Given the description of an element on the screen output the (x, y) to click on. 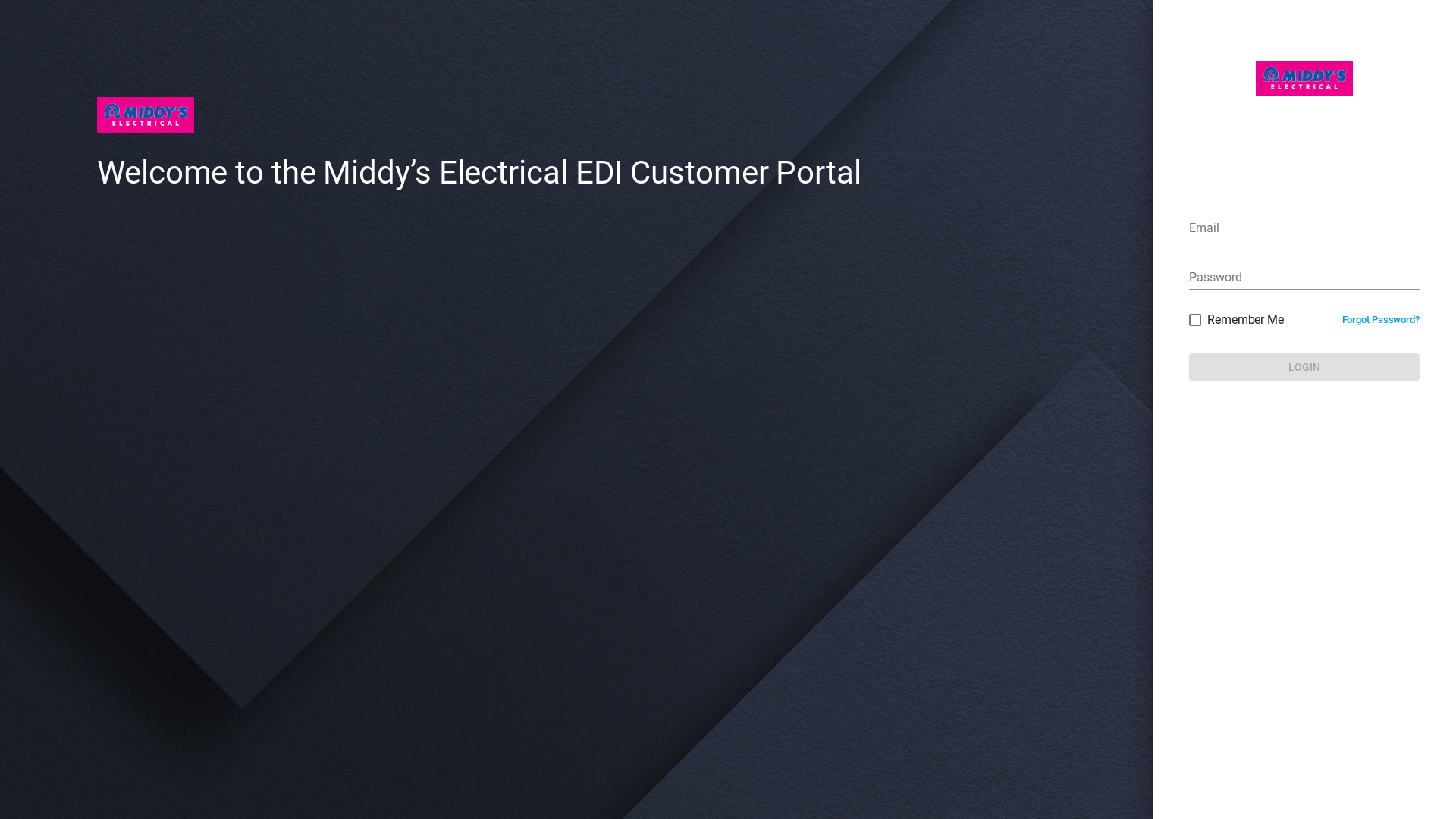
LOGIN Element type: text (1304, 366)
Forgot Password? Element type: text (1380, 319)
